Given the description of an element on the screen output the (x, y) to click on. 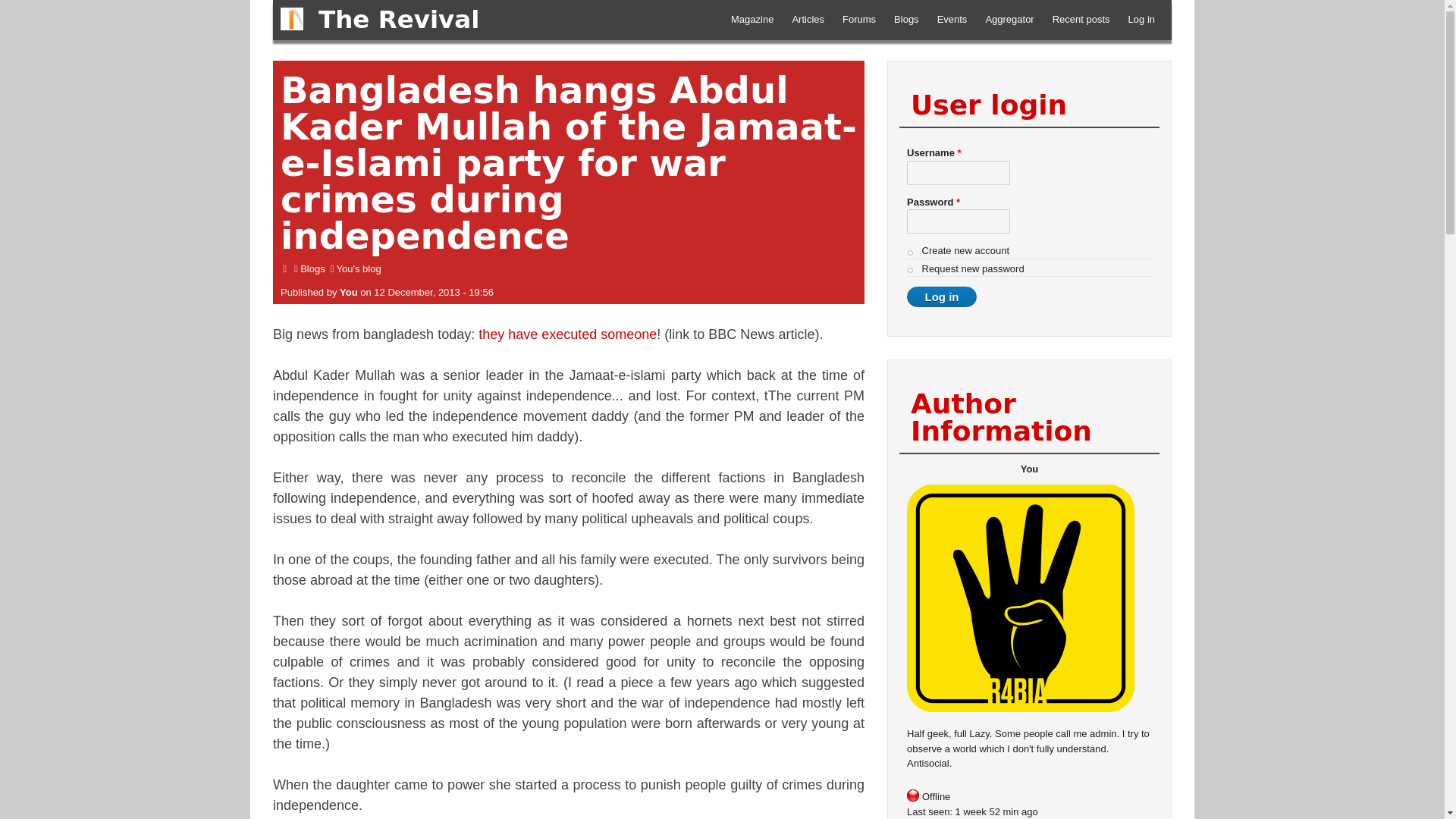
Log in (941, 296)
Magazine (752, 19)
View user profile. (348, 292)
Forums (858, 19)
Log in (1141, 19)
Click here to log in or create a new account (1141, 19)
The Revival (398, 19)
Blogs (906, 19)
Aggregator (1008, 19)
Articles (807, 19)
Log in (941, 296)
Home (291, 18)
Muslim Discussion forums (858, 19)
Browse published magazines by issue (752, 19)
This field is required. (958, 152)
